Given the description of an element on the screen output the (x, y) to click on. 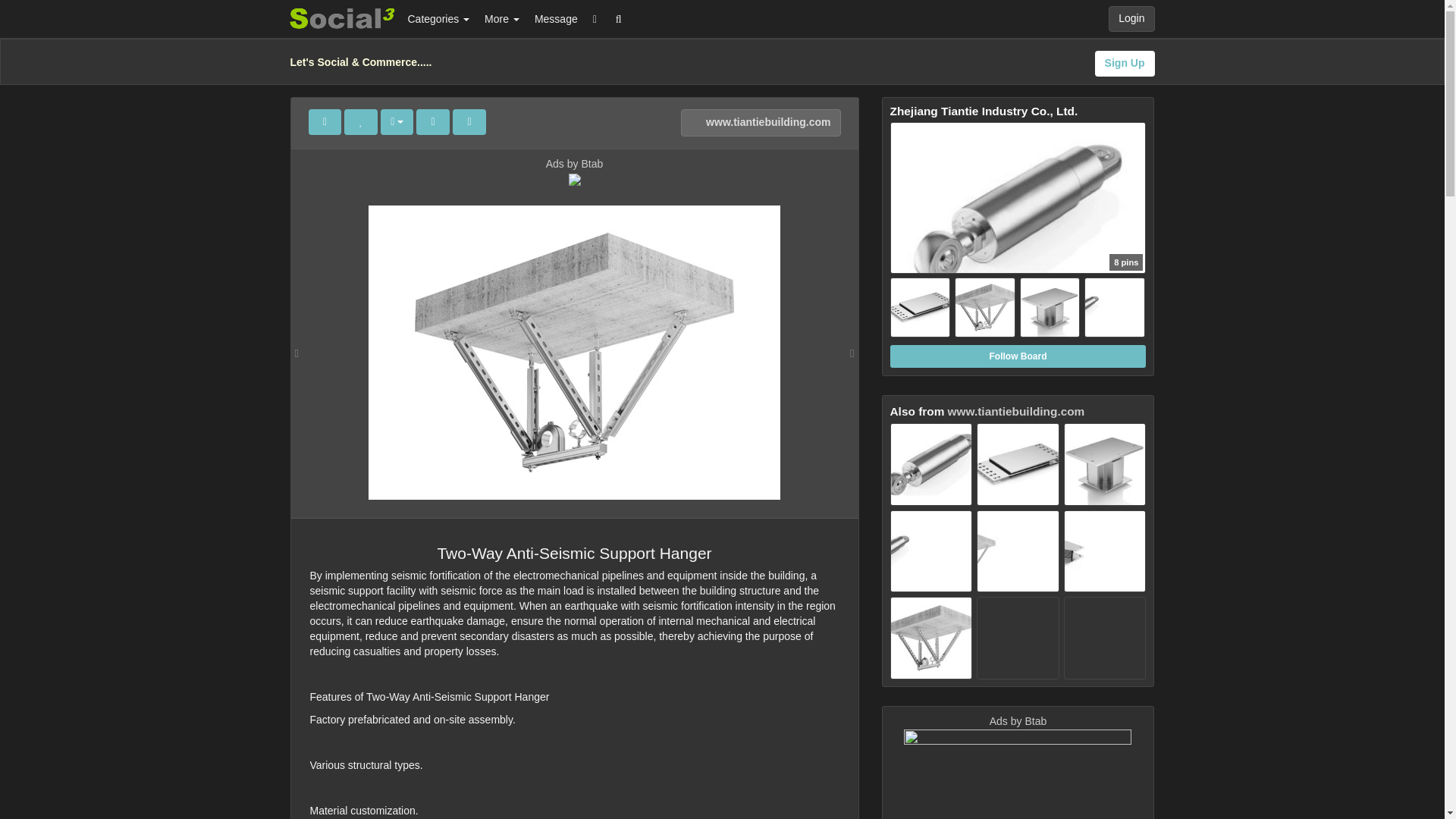
Repin (323, 121)
Sign Up (1124, 63)
Like (360, 121)
Message (556, 18)
Zhejiang Tiantie Industry Co., Ltd. (1018, 231)
Categories (438, 18)
Zoom (432, 121)
Login (1131, 18)
More (502, 18)
Report (469, 121)
